Given the description of an element on the screen output the (x, y) to click on. 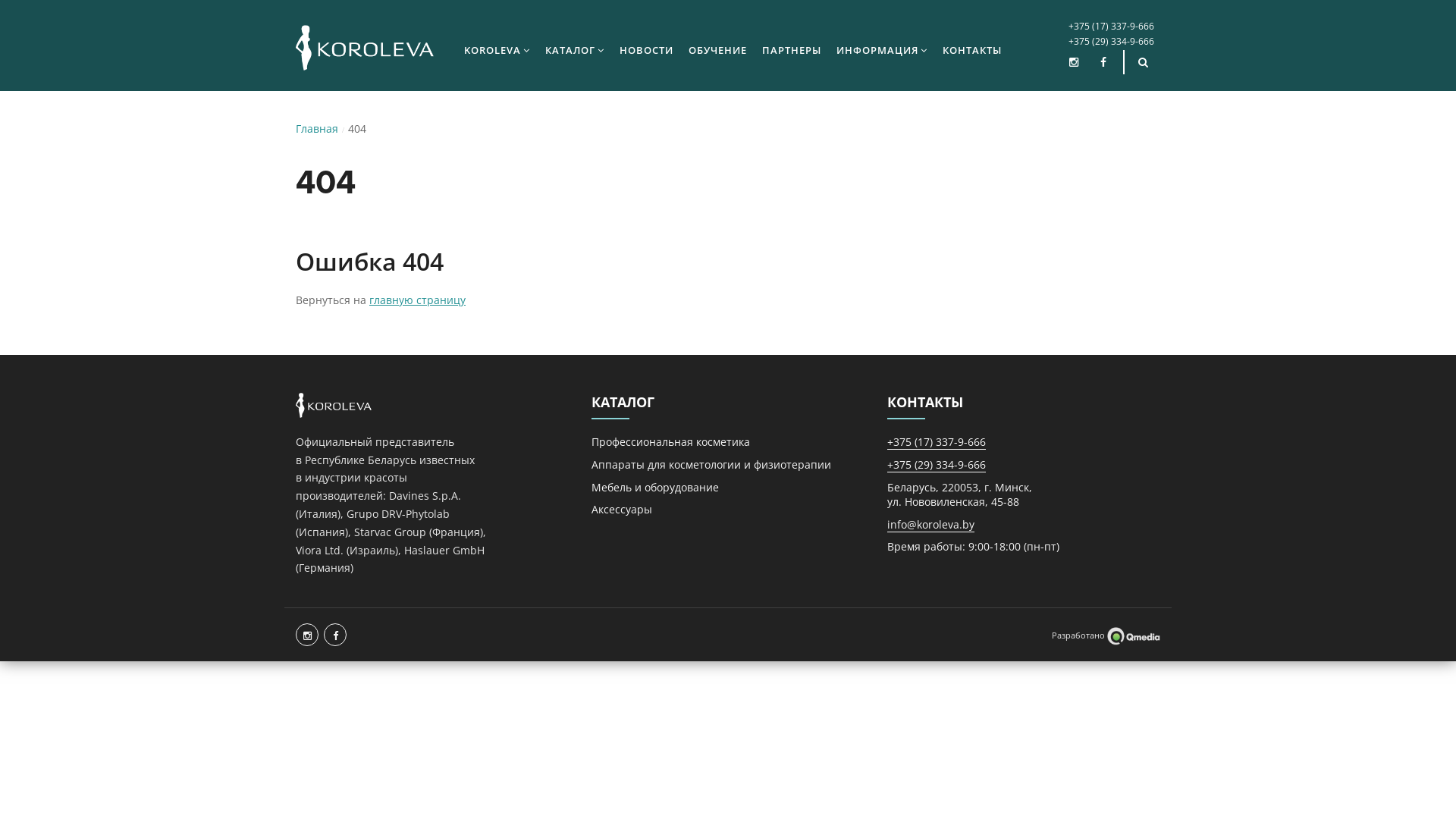
+375 (29) 334-9-666 Element type: text (936, 464)
+375 (17) 337-9-666 Element type: text (1110, 25)
Qmedia Element type: hover (1133, 634)
+375 (17) 337-9-666 Element type: text (936, 441)
info@koroleva.by Element type: text (930, 524)
+375 (29) 334-9-666 Element type: text (1110, 40)
KOROLEVA Element type: text (496, 48)
